Given the description of an element on the screen output the (x, y) to click on. 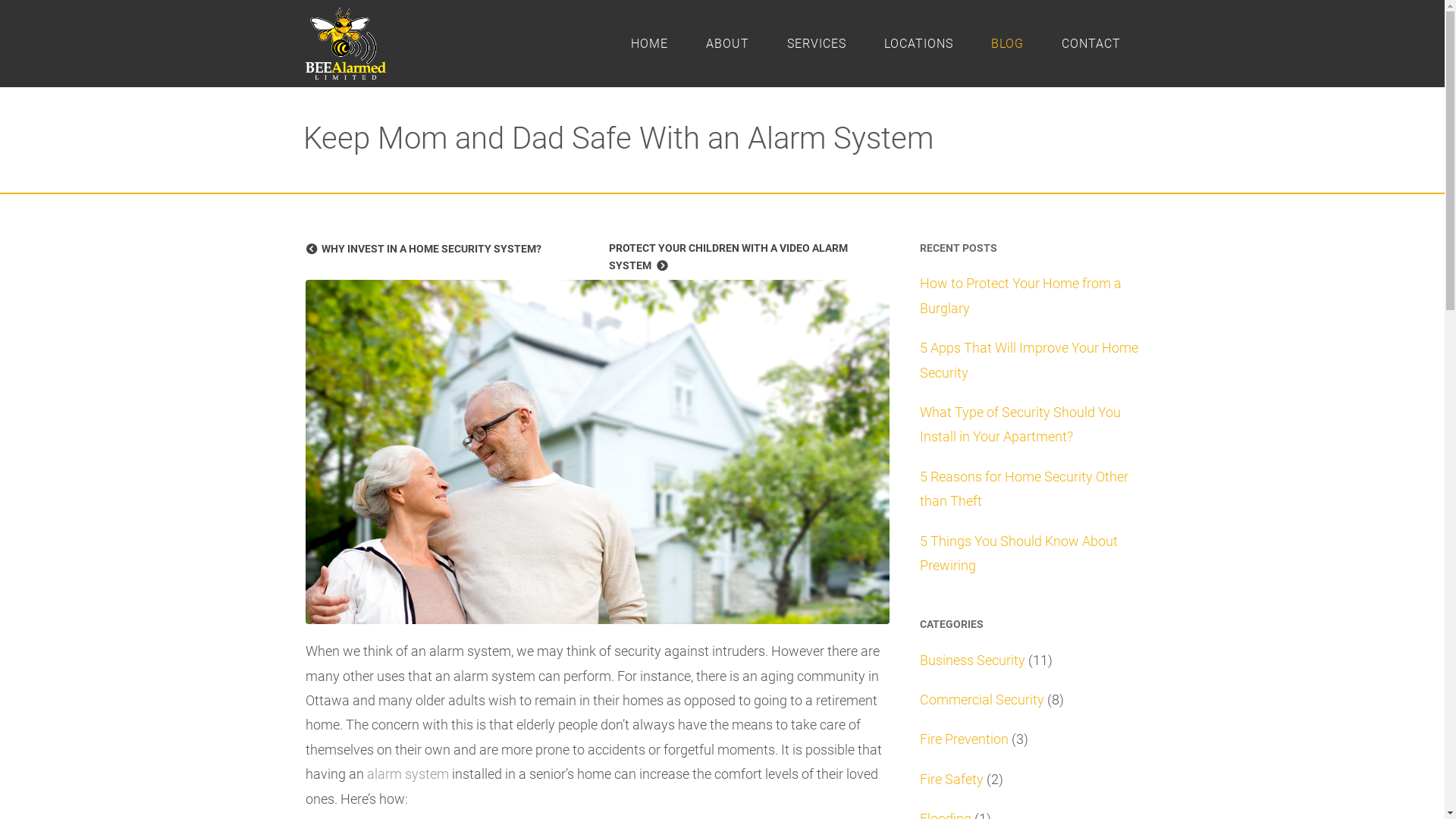
Fire Safety Element type: text (950, 779)
LOCATIONS Element type: text (917, 43)
5 Reasons for Home Security Other than Theft Element type: text (1023, 488)
Business Security Element type: text (971, 660)
HOME Element type: text (648, 43)
BLOG Element type: text (1007, 43)
CONTACT Element type: text (1090, 43)
ABOUT Element type: text (727, 43)
alarm system Element type: text (407, 773)
WHY INVEST IN A HOME SECURITY SYSTEM? Element type: text (444, 249)
5 Apps That Will Improve Your Home Security Element type: text (1028, 359)
5 Things You Should Know About Prewiring Element type: text (1018, 553)
SERVICES Element type: text (815, 43)
PROTECT YOUR CHILDREN WITH A VIDEO ALARM SYSTEM Element type: text (748, 257)
Commercial Security Element type: text (981, 699)
What Type of Security Should You Install in Your Apartment? Element type: text (1019, 424)
How to Protect Your Home from a Burglary Element type: text (1019, 295)
Fire Prevention Element type: text (963, 738)
